Given the description of an element on the screen output the (x, y) to click on. 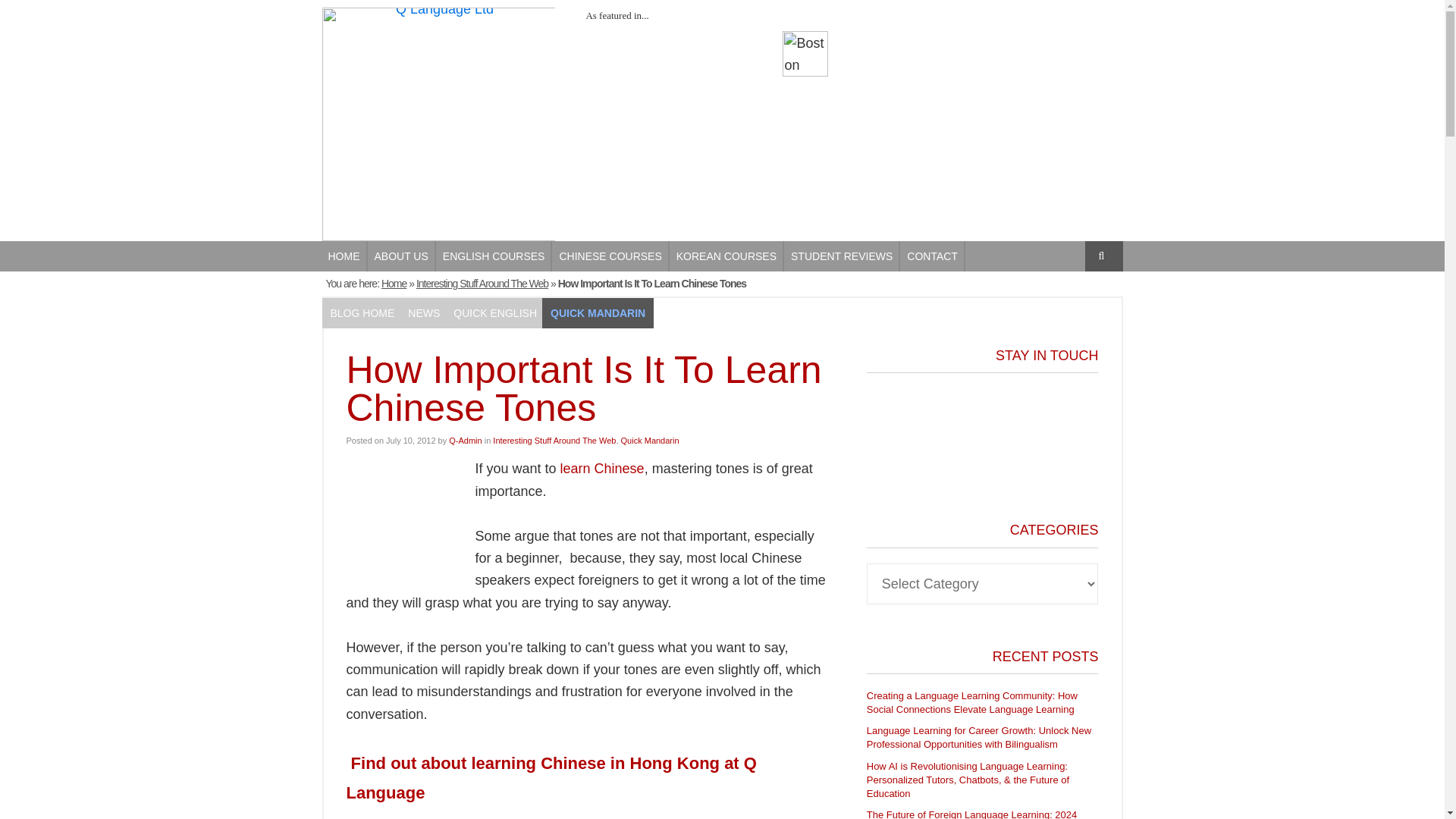
Home (393, 283)
NEWS (423, 313)
chinese-tones (403, 514)
CHINESE COURSES (610, 255)
BLOG HOME (362, 313)
KOREAN COURSES (726, 255)
ENGLISH COURSES (494, 255)
Interesting Stuff Around The Web (482, 283)
HOME (343, 255)
QUICK ENGLISH (494, 313)
